Given the description of an element on the screen output the (x, y) to click on. 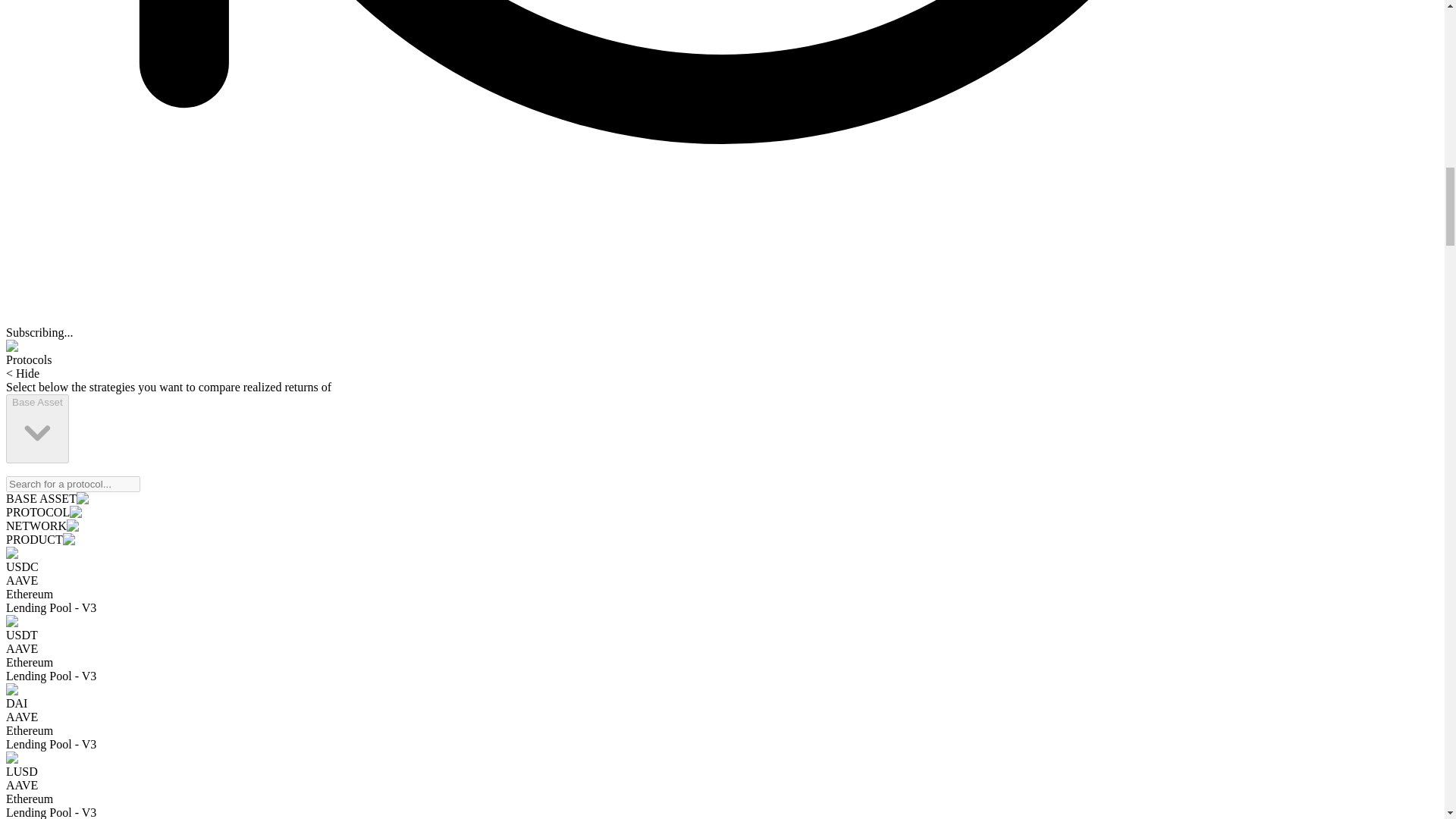
Base Asset (36, 428)
